Given the description of an element on the screen output the (x, y) to click on. 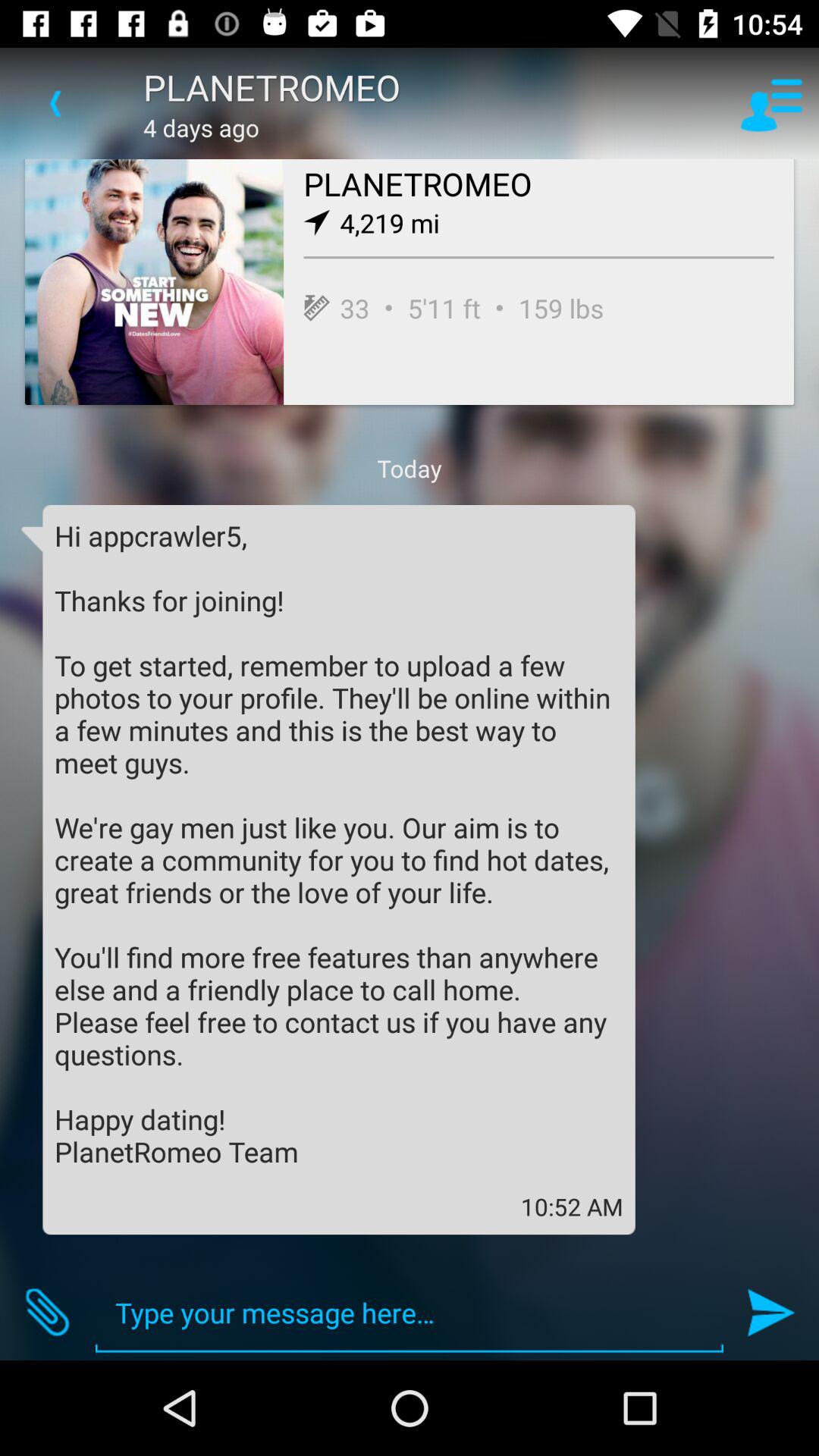
swipe to the hi appcrawler5 thanks icon (338, 843)
